Given the description of an element on the screen output the (x, y) to click on. 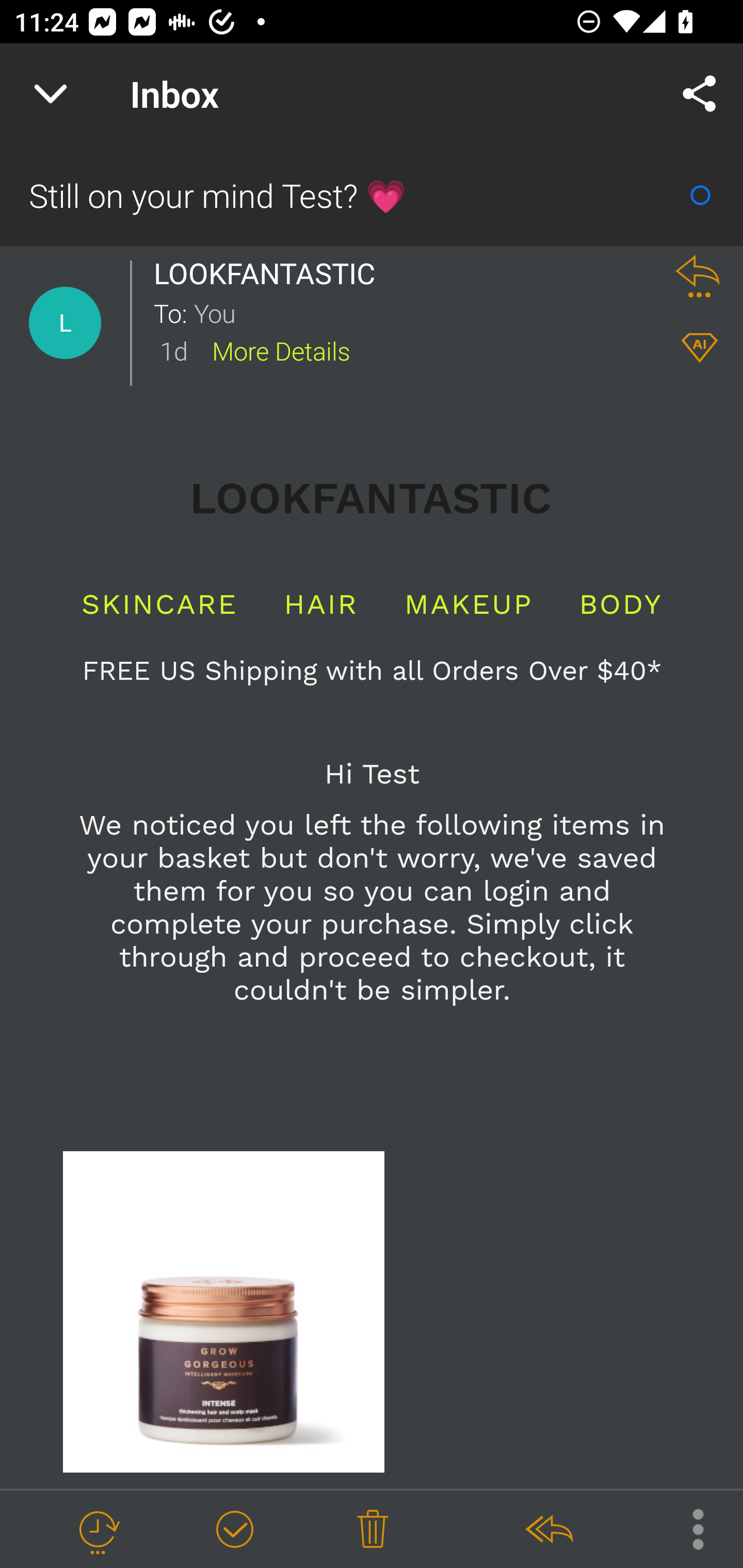
Navigate up (50, 93)
Share (699, 93)
Mark as Read (699, 194)
LOOKFANTASTIC (269, 273)
Contact Details (64, 322)
You (422, 311)
More Details (280, 349)
  SKINCARE   (159, 604)
  HAIR   (321, 604)
  MAKEUP   (468, 604)
  BODY   (620, 604)
More Options (687, 1528)
Snooze (97, 1529)
Mark as Done (234, 1529)
Delete (372, 1529)
Reply All (548, 1529)
